Given the description of an element on the screen output the (x, y) to click on. 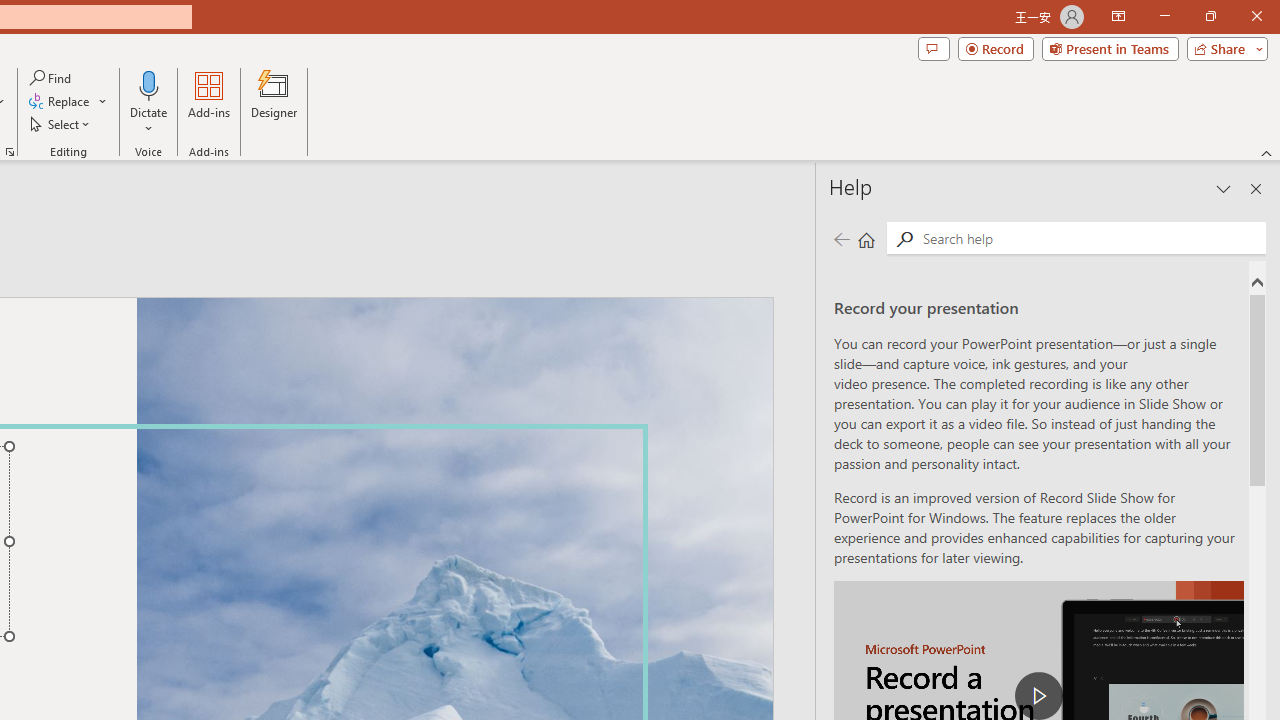
play Record a Presentation (1038, 695)
